Given the description of an element on the screen output the (x, y) to click on. 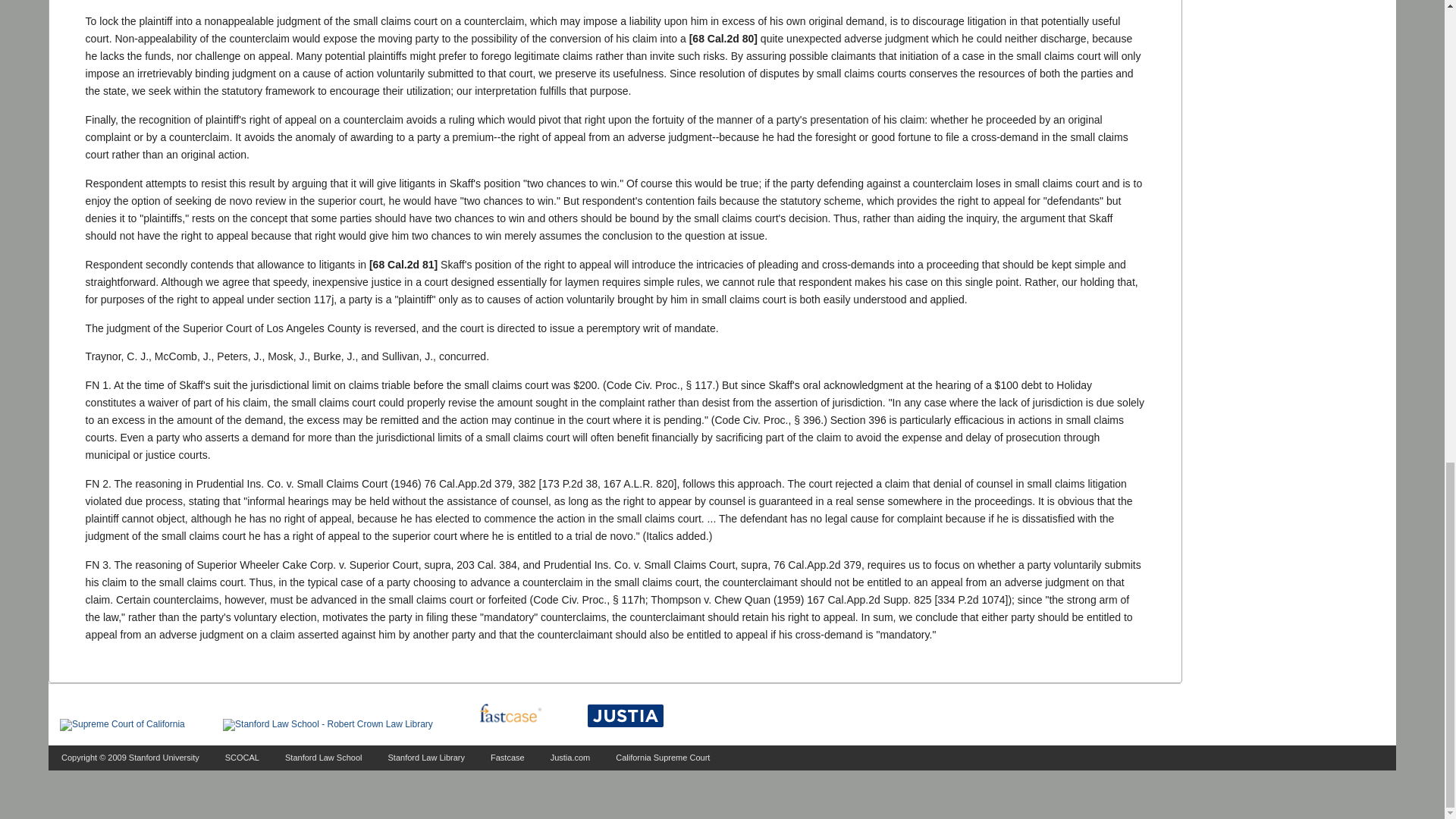
Justia (625, 715)
Stanford Law School (323, 757)
Stanford Law School - Robert Crown Law Library (327, 725)
SCOCAL (242, 757)
Supreme Court of California (121, 725)
Justia.com (570, 757)
fastcase (510, 714)
California Supreme Court (662, 757)
Fastcase (507, 757)
Stanford Law Library (426, 757)
